Given the description of an element on the screen output the (x, y) to click on. 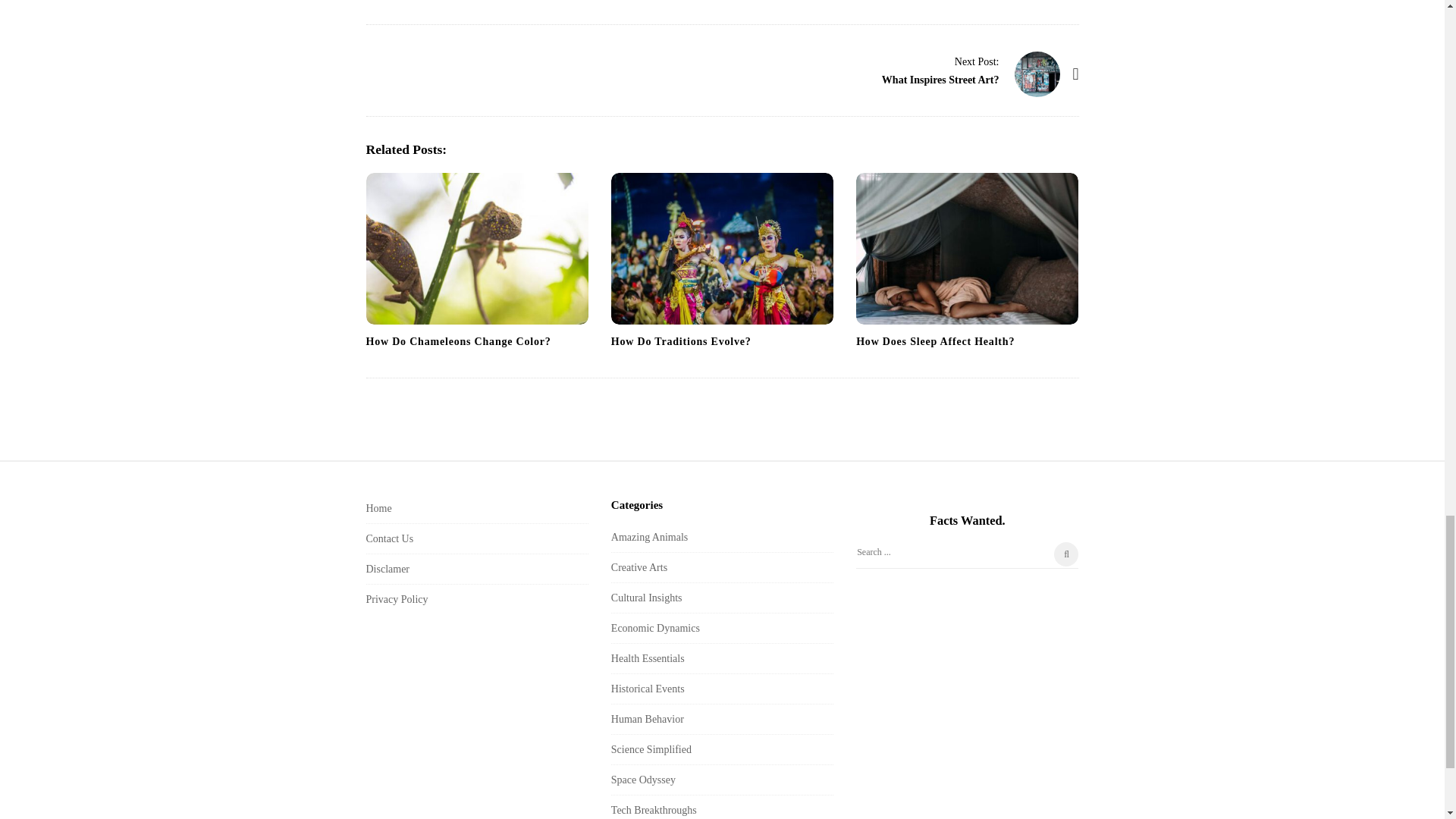
How Does Sleep Affect Health? (935, 341)
Home (378, 508)
How Do Chameleons Change Color? (457, 341)
How Do Chameleons Change Color? (476, 248)
What Inspires Street Art? (1036, 74)
Health Essentials (647, 658)
Historical Events (647, 688)
Creative Arts (638, 567)
How Does Sleep Affect Health? (967, 248)
Amazing Animals (649, 536)
Contact Us (389, 538)
How Do Traditions Evolve? (681, 341)
Next Post: (976, 61)
Privacy Policy (396, 599)
Human Behavior (647, 718)
